Given the description of an element on the screen output the (x, y) to click on. 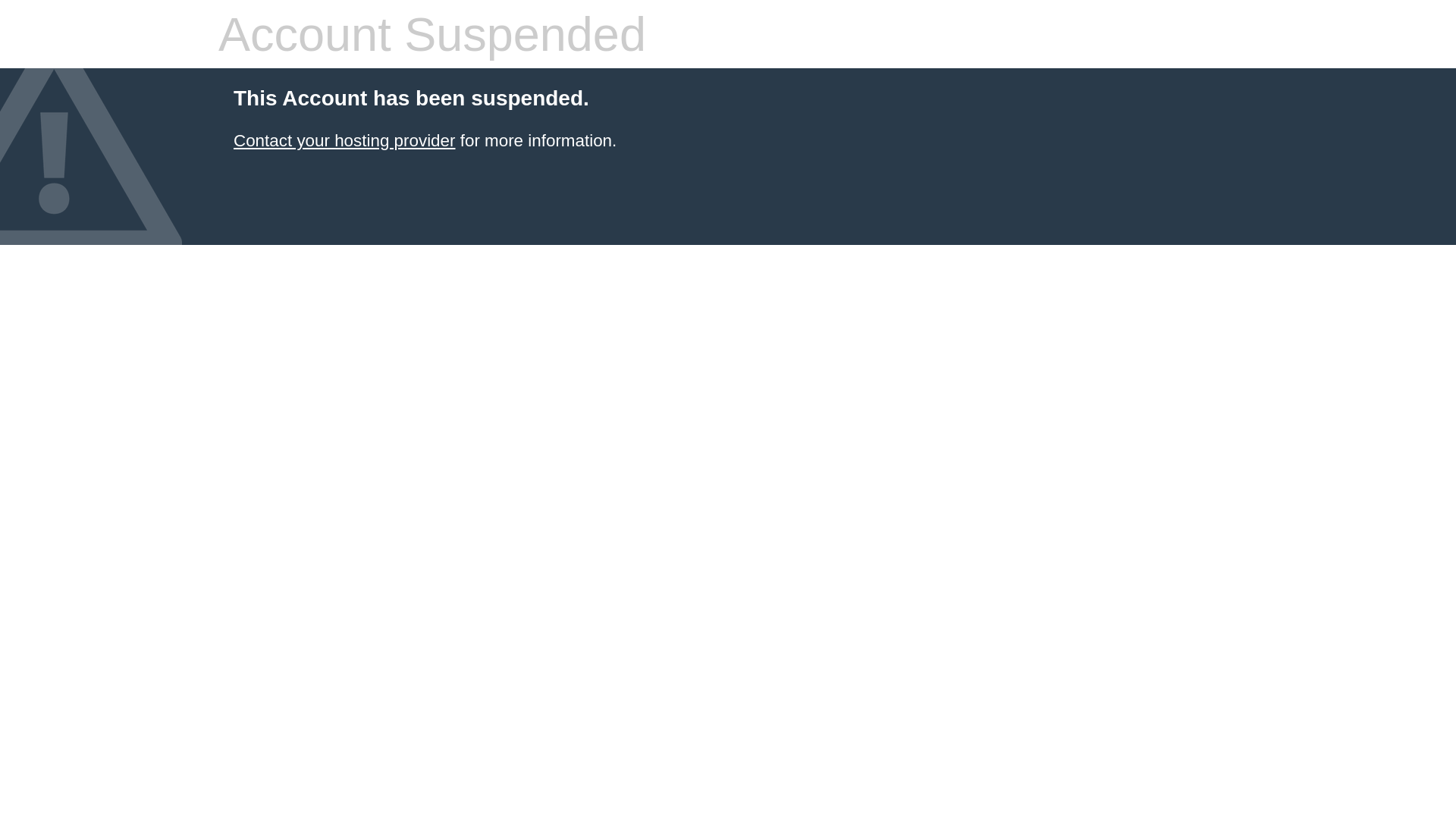
Contact your hosting provider Element type: text (344, 140)
